Given the description of an element on the screen output the (x, y) to click on. 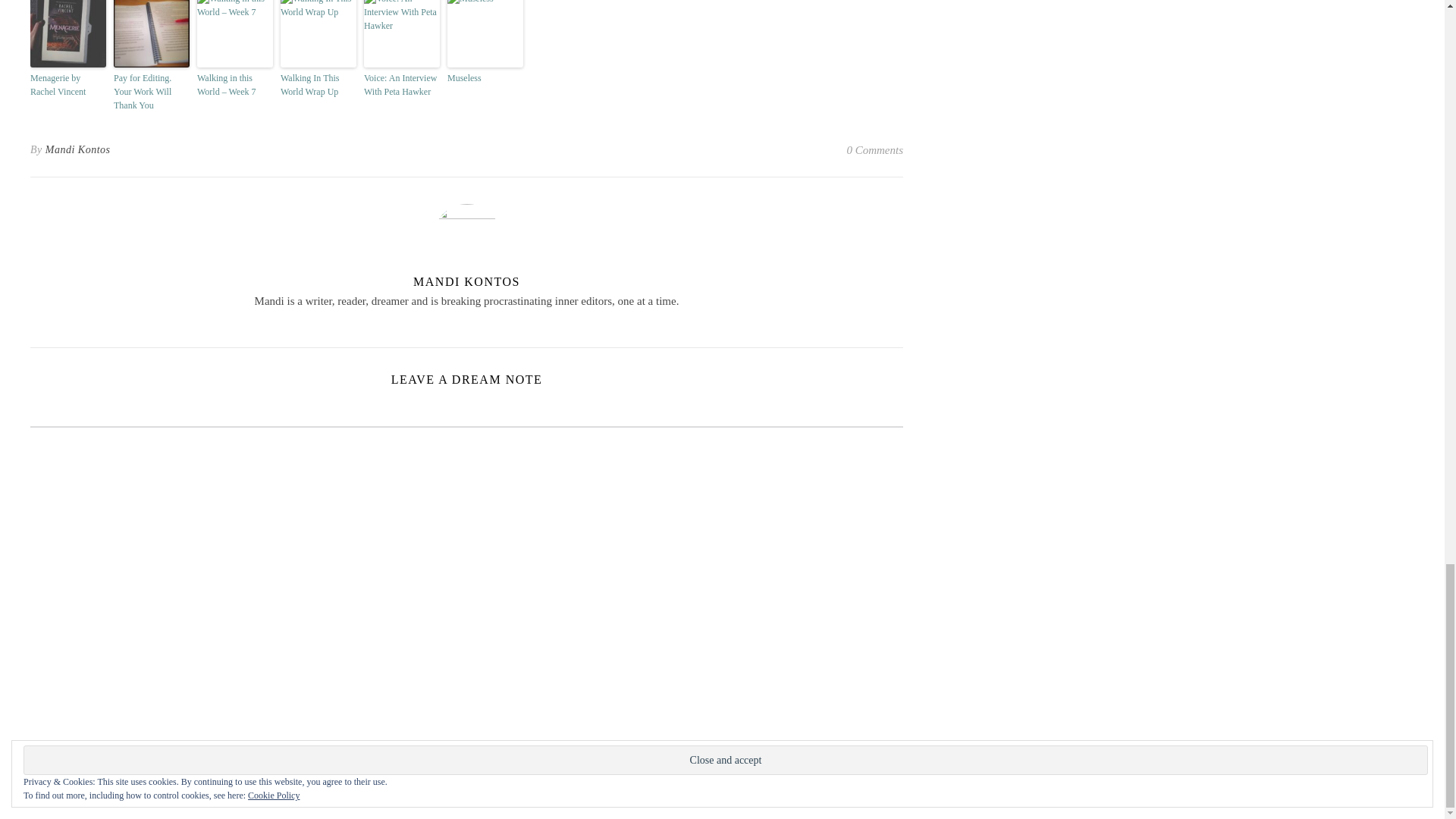
Walking In This World Wrap Up (318, 84)
Pay for Editing. Your Work Will Thank You (151, 91)
Posts by Mandi Kontos (77, 149)
Posts by Mandi Kontos (466, 281)
Menagerie by Rachel Vincent (68, 84)
